Given the description of an element on the screen output the (x, y) to click on. 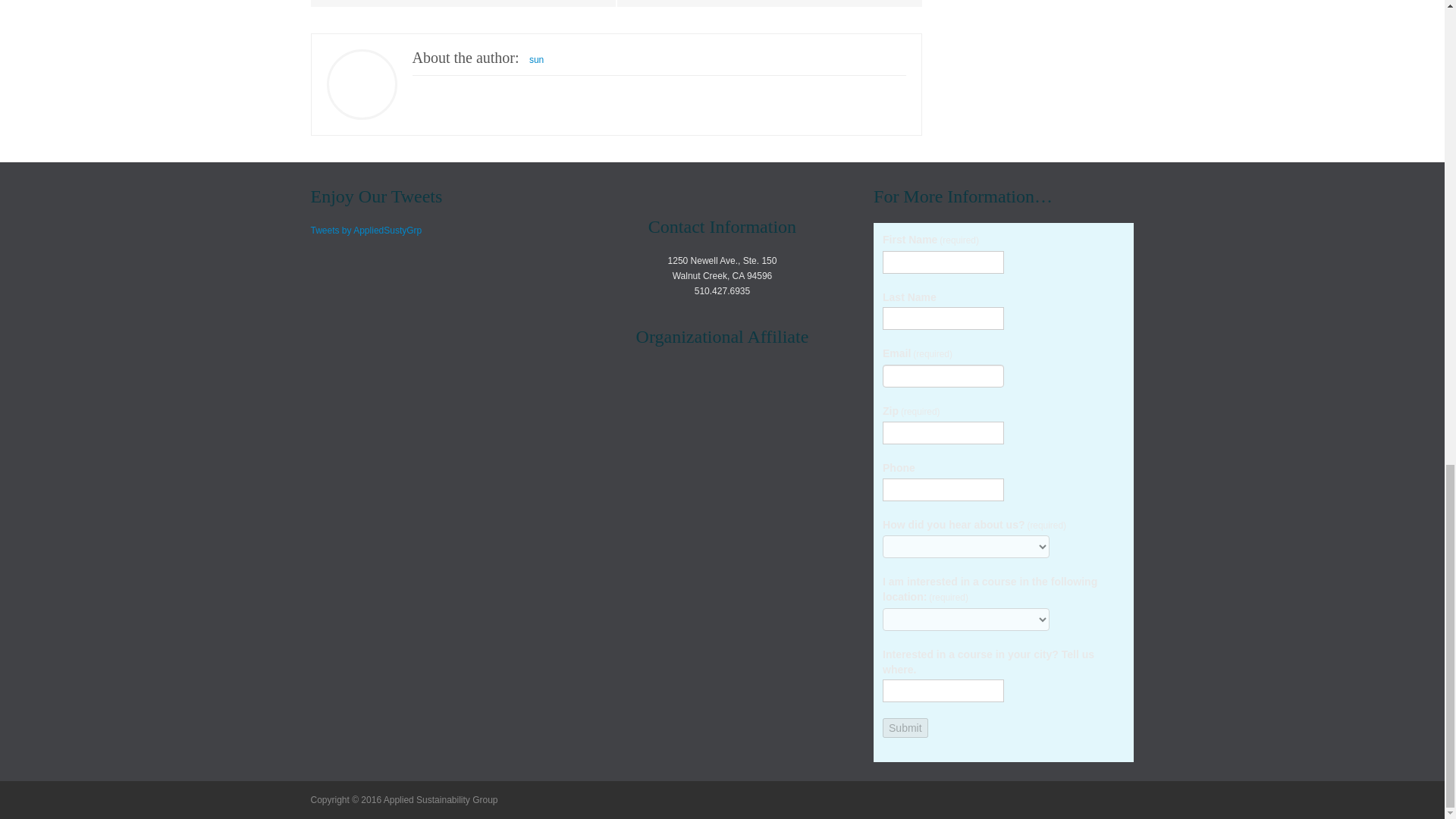
sun (536, 59)
Tweets by AppliedSustyGrp (366, 230)
Posts by sun (536, 59)
Submit (905, 727)
